Given the description of an element on the screen output the (x, y) to click on. 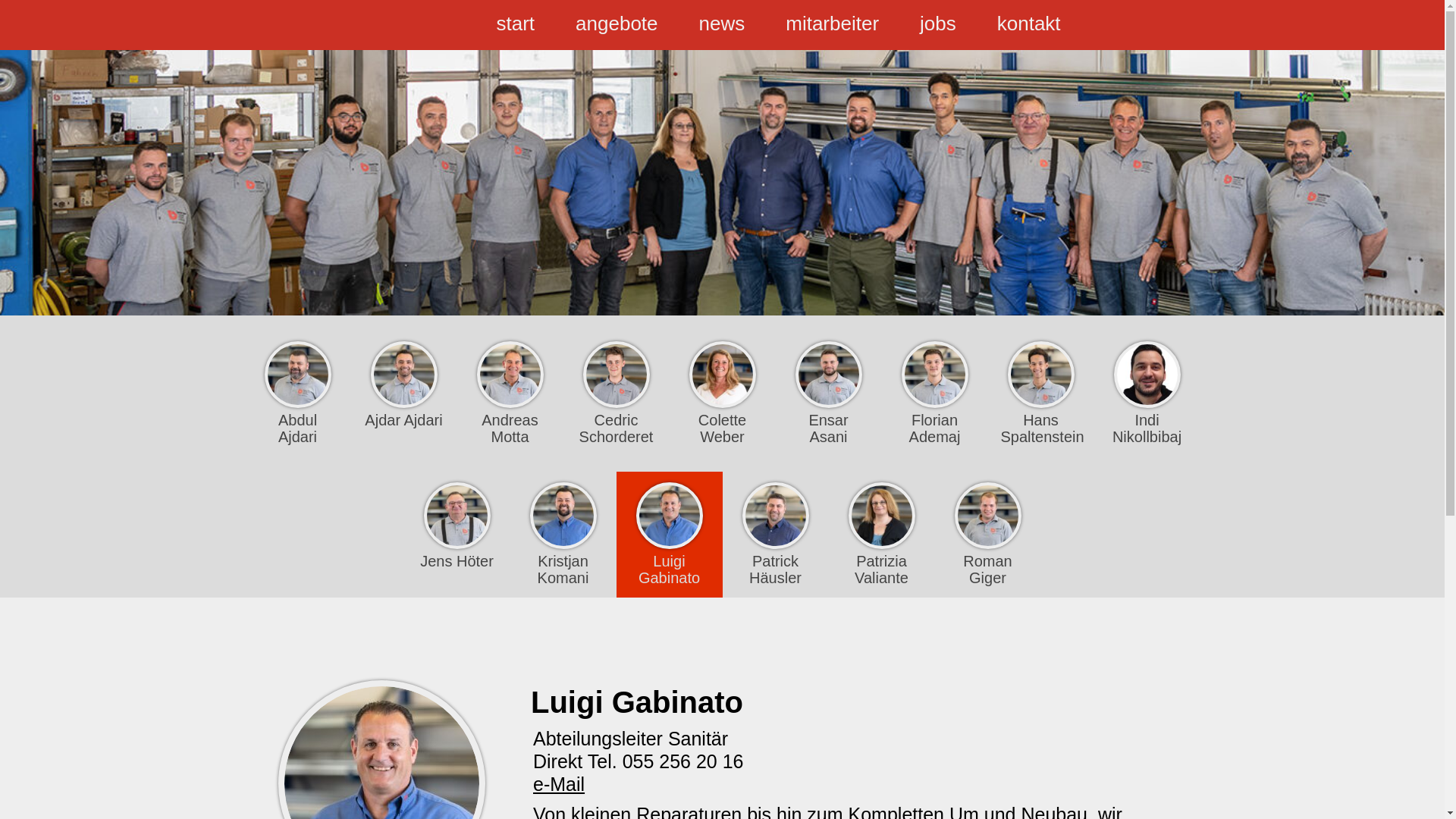
start Element type: text (514, 24)
Ajdar Ajdari Element type: text (403, 384)
Abdul Ajdari Element type: text (297, 393)
Indi Nikollbibaj Element type: text (1146, 393)
Roman Giger Element type: text (987, 534)
jobs Element type: text (937, 24)
Patrizia Valiante Element type: text (881, 534)
angebote Element type: text (616, 24)
kontakt Element type: text (1029, 24)
Colette Weber Element type: text (721, 393)
Kristjan Komani Element type: text (562, 534)
Cedric Schorderet Element type: text (615, 393)
Hans Spaltenstein Element type: text (1040, 393)
Luigi Gabinato Element type: text (668, 534)
mitarbeiter Element type: text (832, 24)
e-Mail Element type: text (558, 783)
Florian Ademaj Element type: text (934, 393)
news Element type: text (722, 24)
Andreas Motta Element type: text (509, 393)
Ensar Asani Element type: text (828, 393)
